Given the description of an element on the screen output the (x, y) to click on. 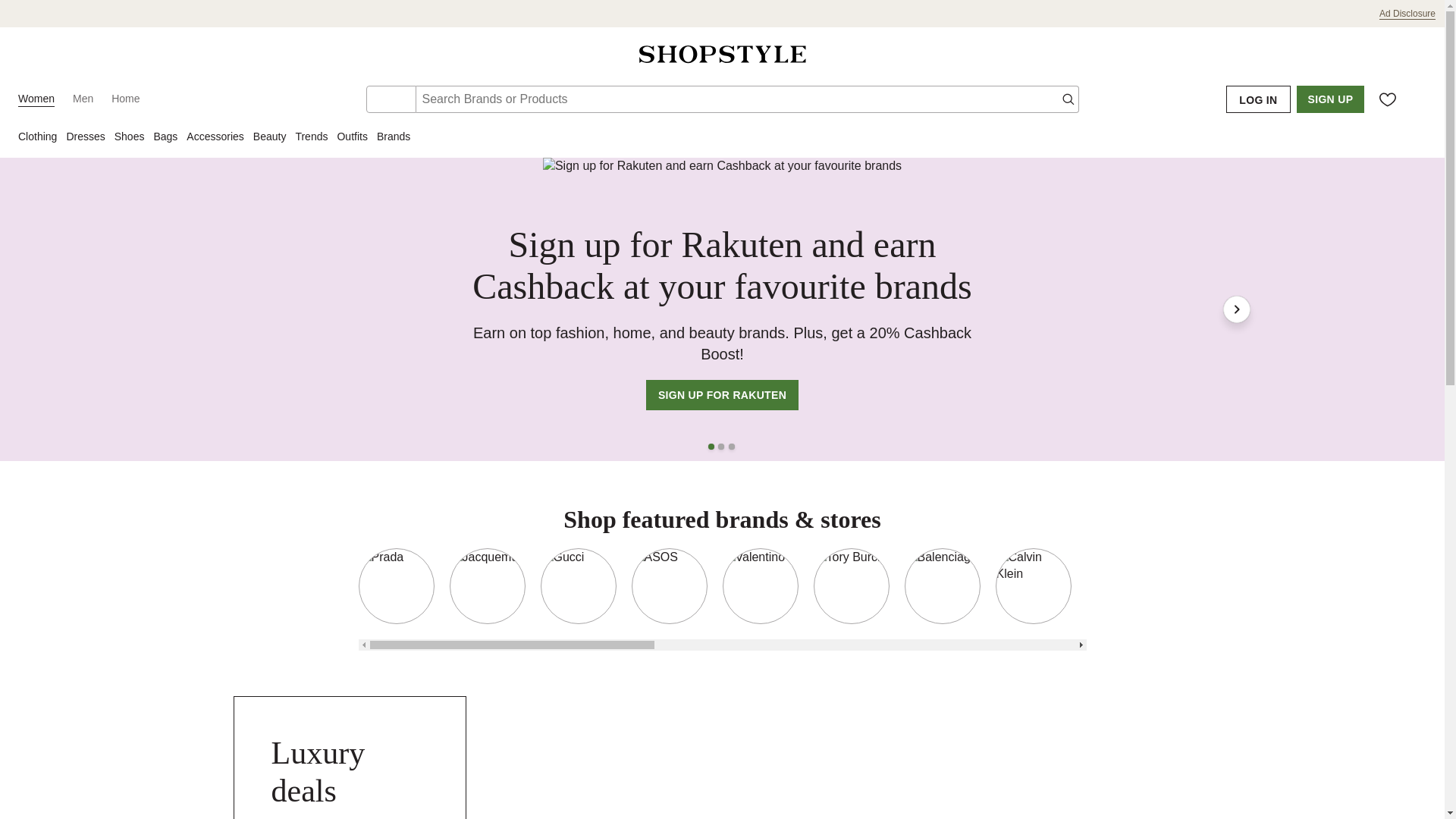
LOG IN (1257, 99)
Ad Disclosure (1406, 13)
Women (36, 98)
SIGN UP (1330, 99)
Global search input (746, 99)
Home (125, 98)
Clothing (41, 137)
My Favorites (1387, 99)
Men (82, 98)
